Given the description of an element on the screen output the (x, y) to click on. 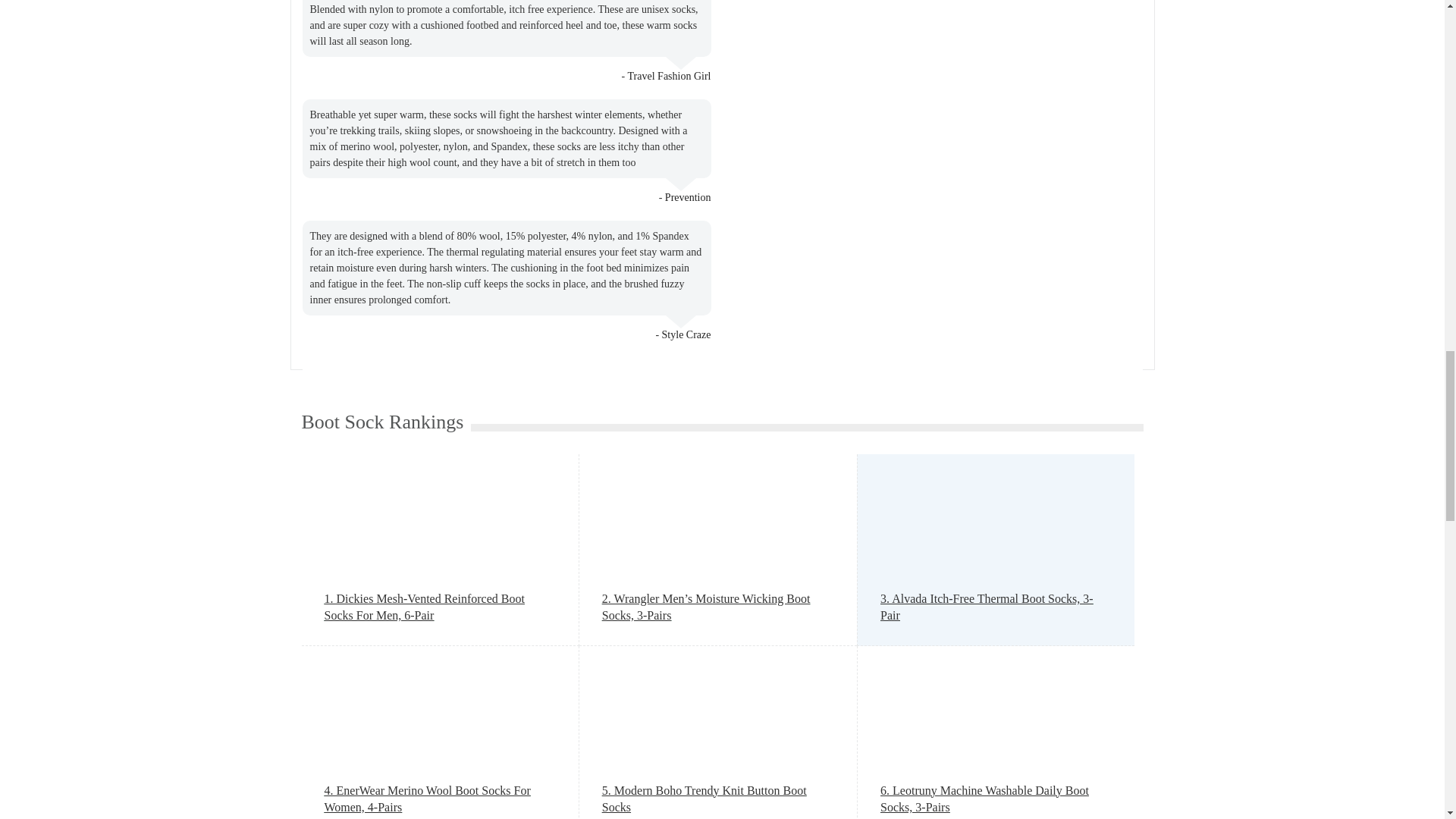
Travel Fashion Girl (669, 75)
Style Craze (686, 334)
Prevention (688, 197)
